Given the description of an element on the screen output the (x, y) to click on. 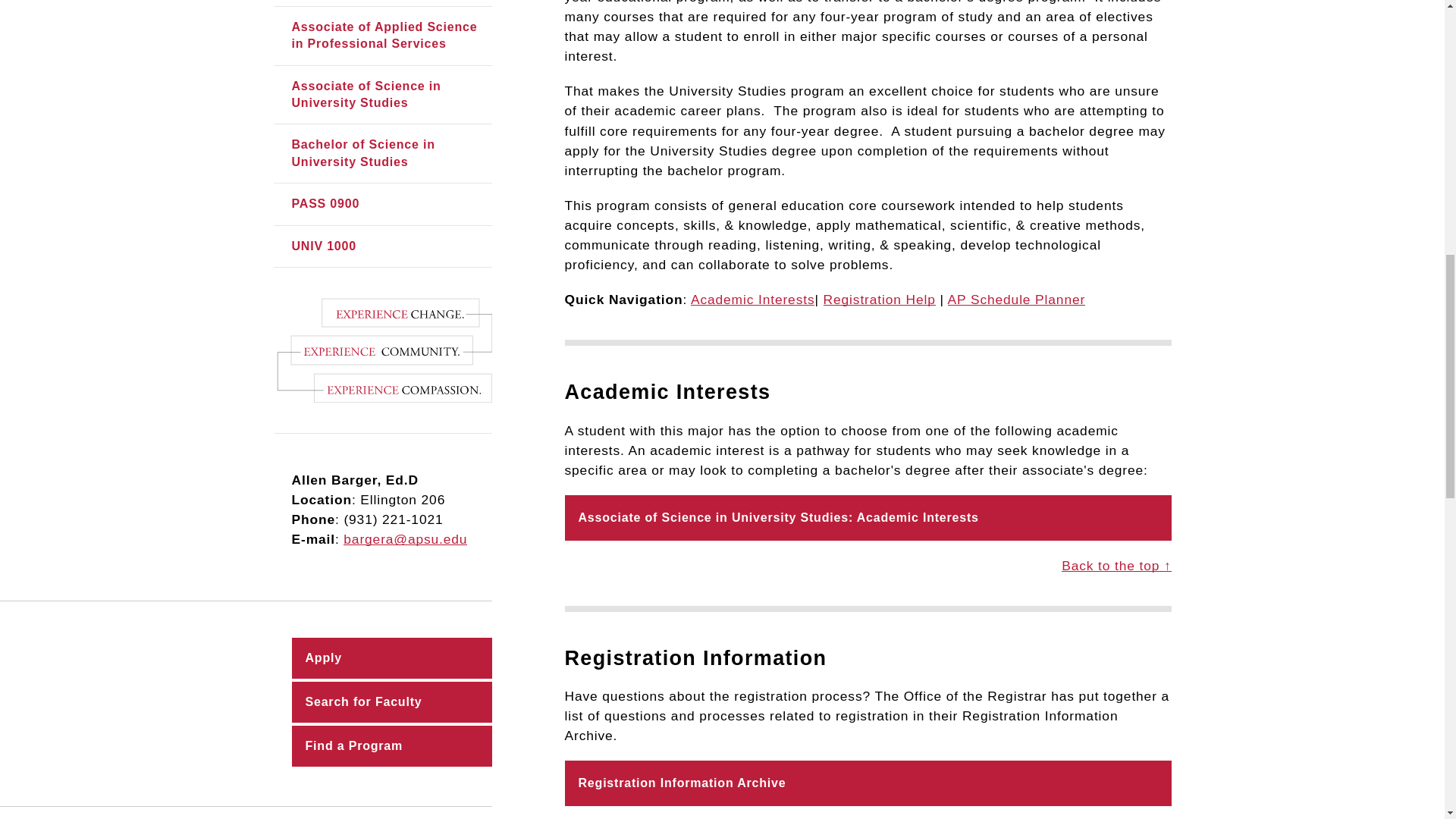
Associates of Applied Science in Professional Services (382, 35)
Registration Information Archive (867, 782)
UNIV 1000 (382, 246)
Registration Help (880, 299)
PASS 0900 (382, 203)
Associates of Science in University Studies (382, 95)
Academic Interests (752, 299)
AP Schedule Planner (1016, 299)
Bachelors of Science in University Studies (382, 153)
